Given the description of an element on the screen output the (x, y) to click on. 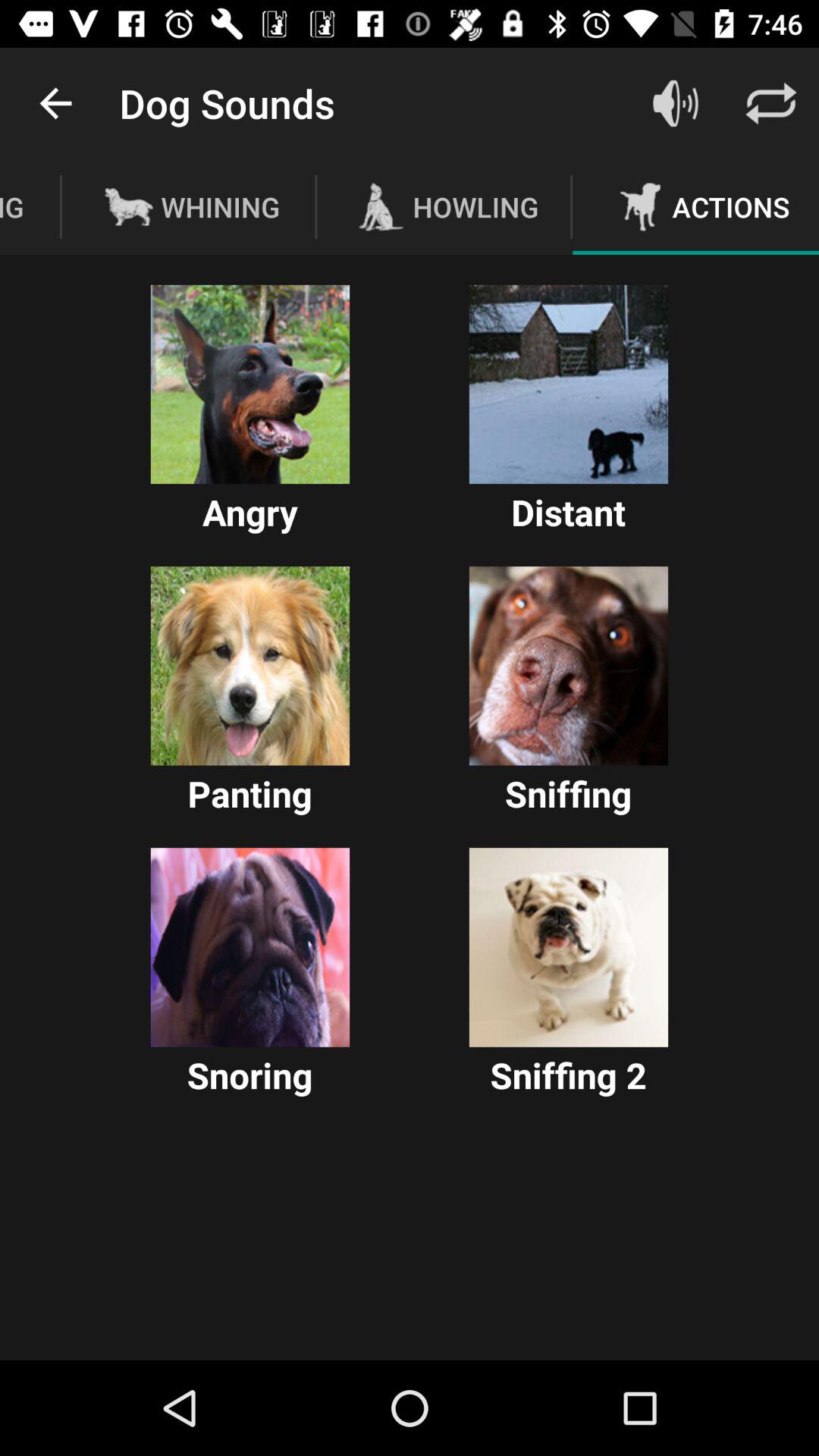
play panting dog sound (249, 665)
